Given the description of an element on the screen output the (x, y) to click on. 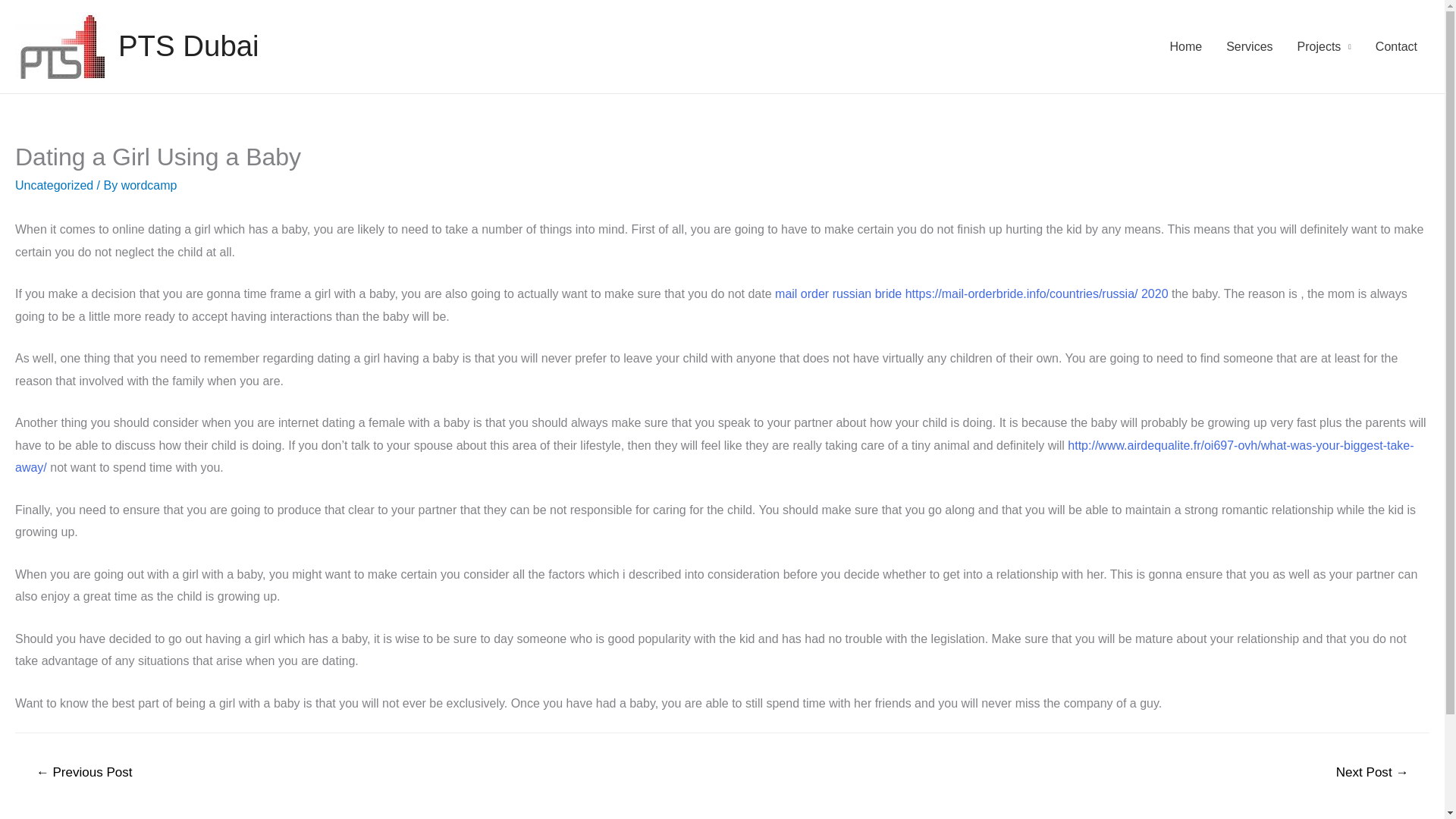
wordcamp (148, 185)
Services (1249, 46)
Uncategorized (53, 185)
View all posts by wordcamp (148, 185)
PTS Dubai (188, 45)
Contact (1395, 46)
Home (1185, 46)
Projects (1323, 46)
